Given the description of an element on the screen output the (x, y) to click on. 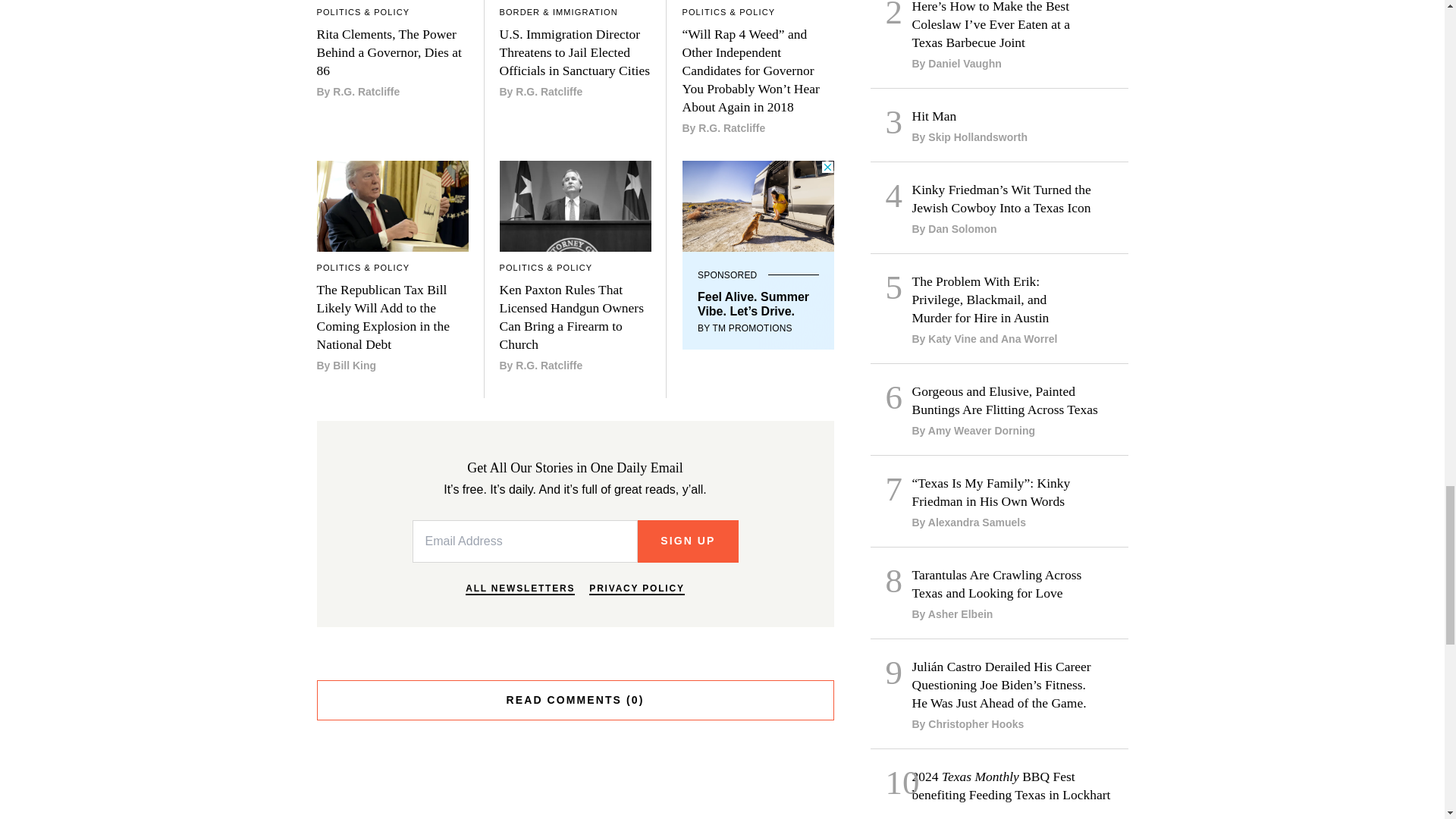
3rd party ad content (758, 254)
